Given the description of an element on the screen output the (x, y) to click on. 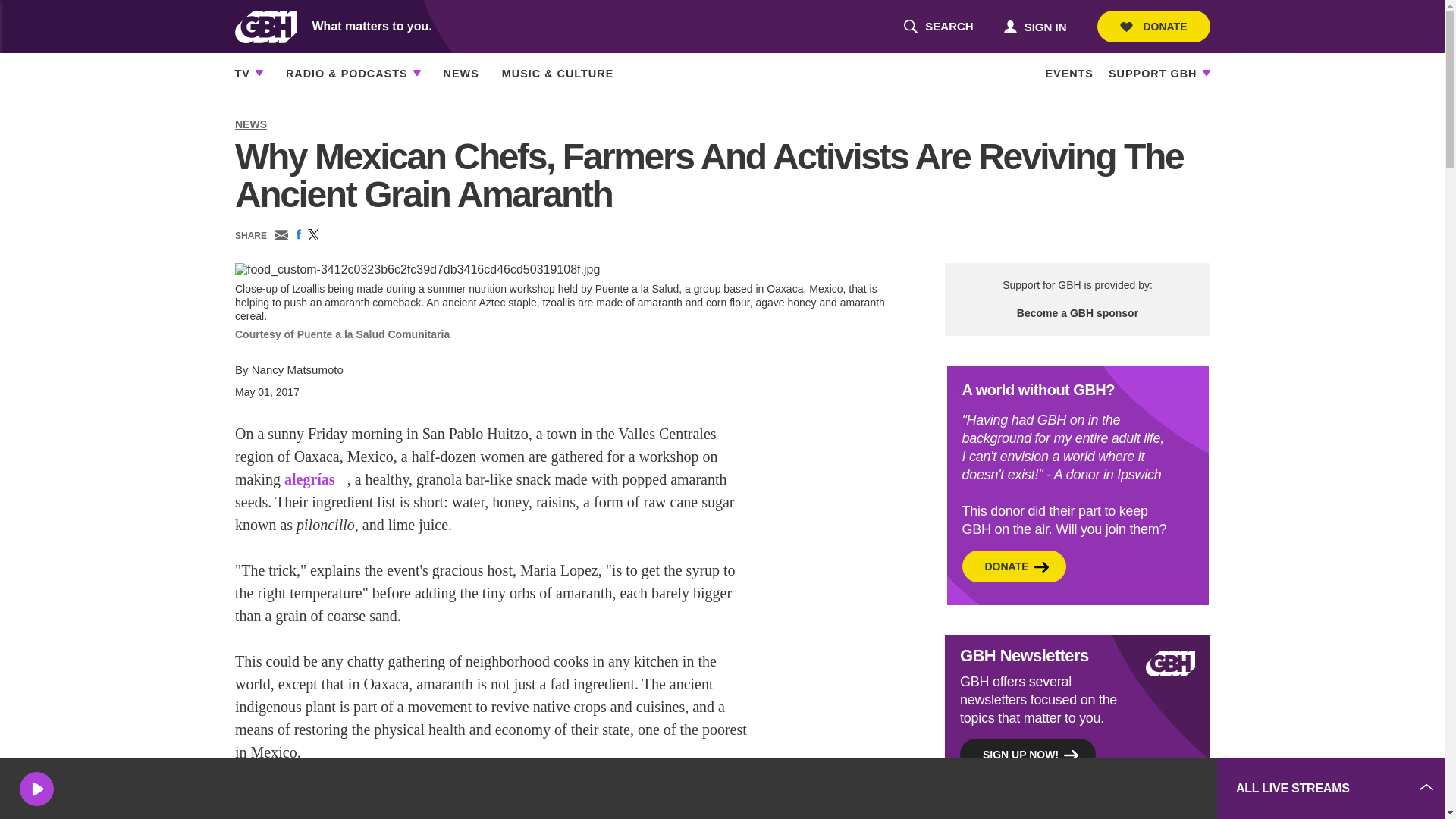
SIGN IN (1034, 25)
DONATE (937, 26)
